Given the description of an element on the screen output the (x, y) to click on. 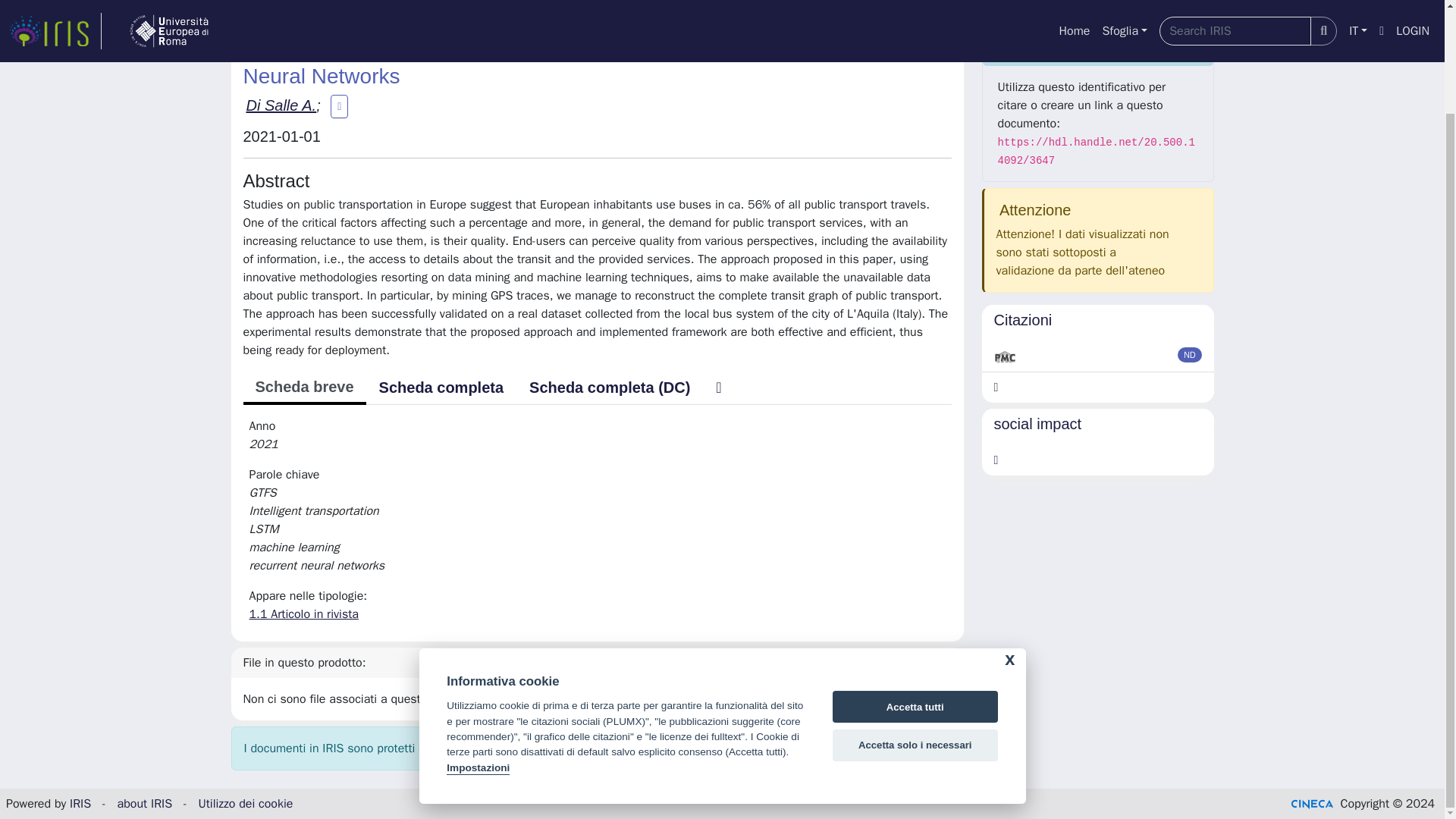
Utilizzo dei cookie (245, 803)
1.1 Articolo in rivista (572, 6)
 Informazioni (1097, 46)
IRIS (79, 803)
IRIS (240, 6)
Scheda breve (304, 387)
Scheda completa (441, 387)
1 Contributo su Rivista (438, 6)
Catalogo Ricerca (314, 6)
Di Salle A. (280, 105)
